Given the description of an element on the screen output the (x, y) to click on. 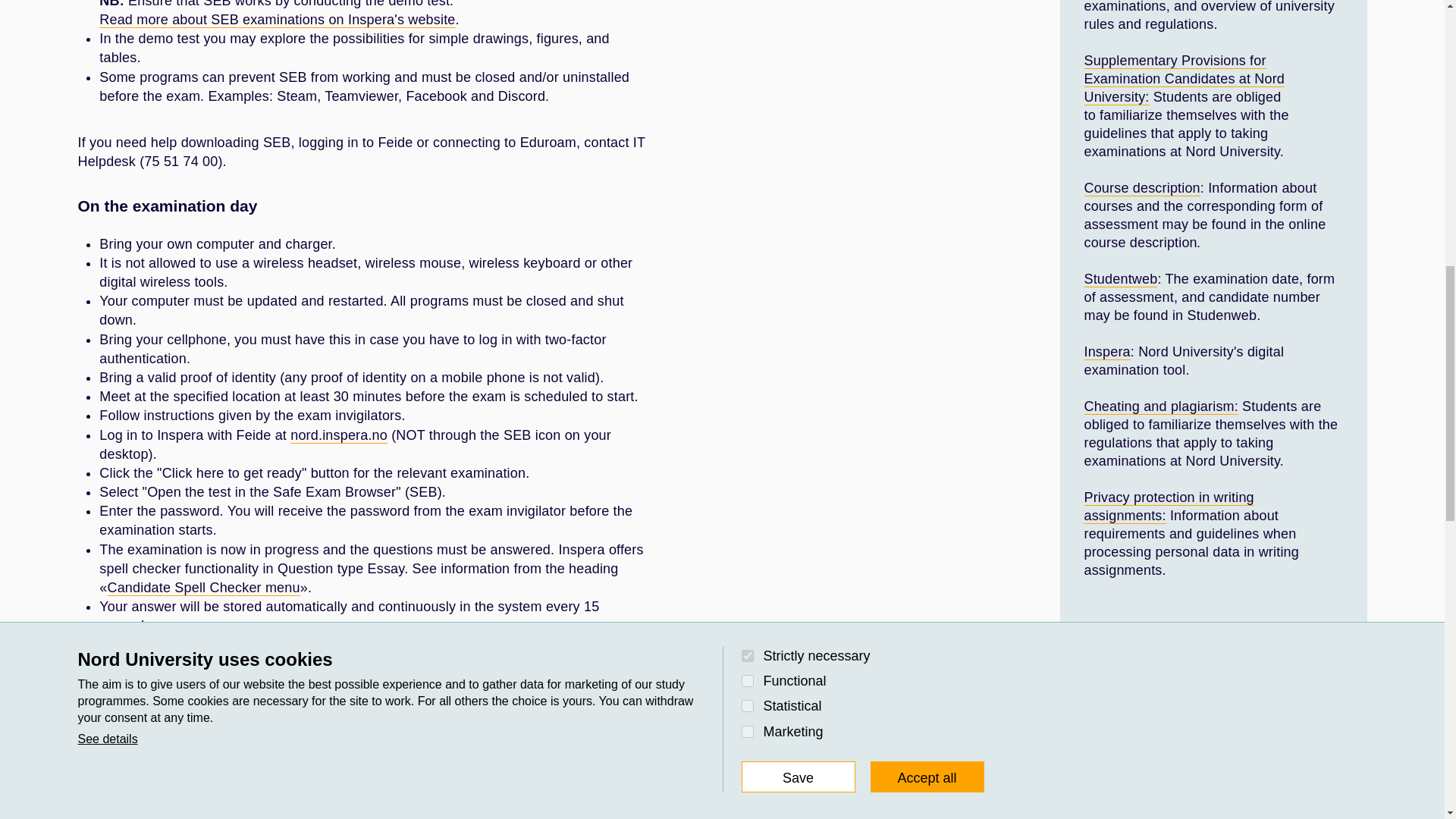
Privacy protection in writing assignments: (1168, 506)
Cheating and plagiarism: (1161, 406)
Studentweb (1120, 279)
Candidate Spell Checker menu (203, 587)
nord.inspera.no (338, 435)
Inspera (1107, 351)
Course description (1141, 188)
Cheating (1161, 406)
